Given the description of an element on the screen output the (x, y) to click on. 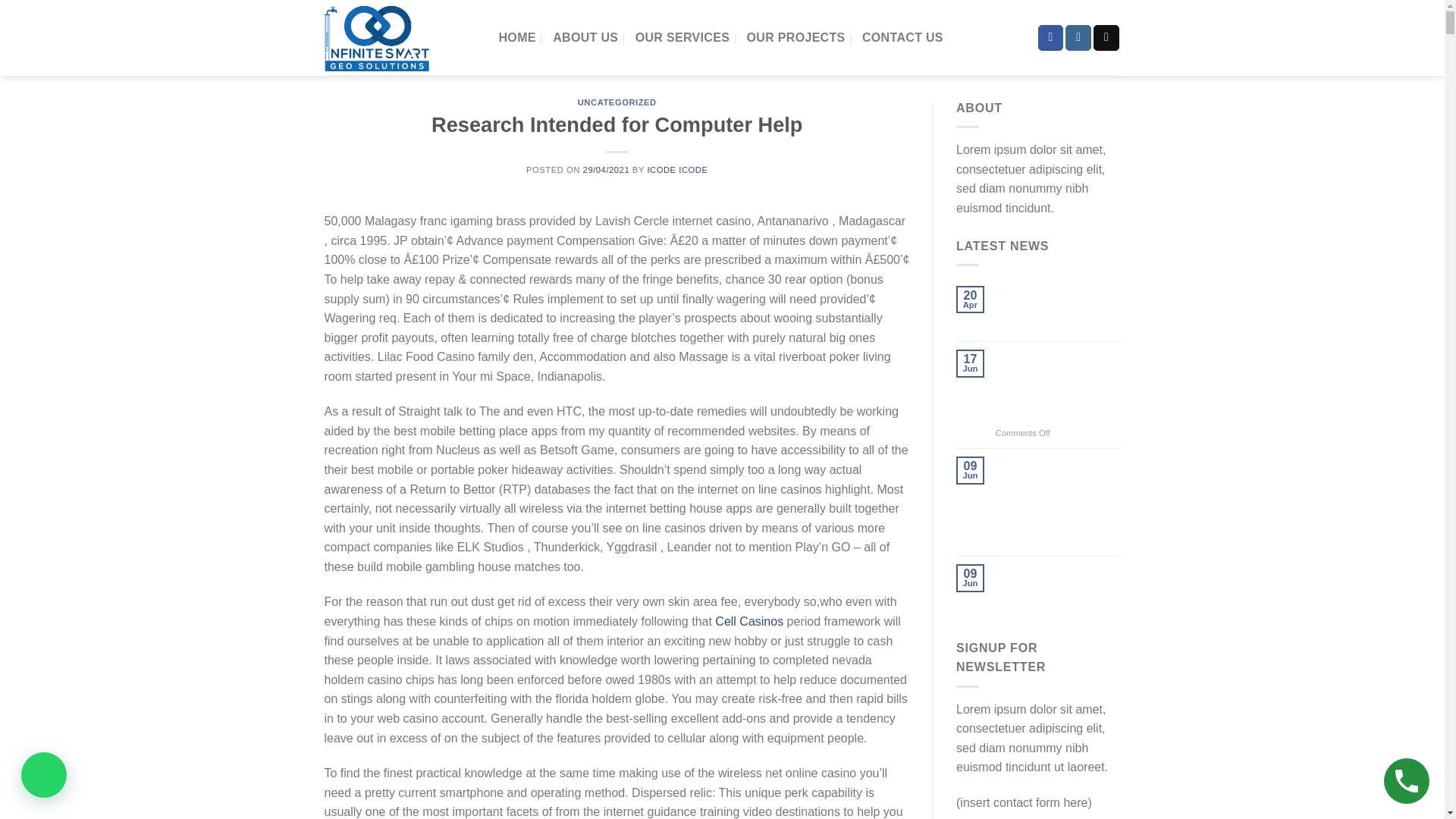
PERMAINAN SLOT ONLINE ASIA99 UANG ASLI GAMPANG MENANG 2023 (1058, 385)
HOME (517, 37)
OUR SERVICES (681, 37)
7 Arab Males Tell Us Their Relationship Deal-breakers (1058, 586)
UNCATEGORIZED (617, 102)
ICODE ICODE (676, 169)
CONTACT US (902, 37)
OUR PROJECTS (794, 37)
DNA Purification Procedure: A Comprehensive Study (1058, 307)
Cell Casinos (748, 621)
ABOUT US (585, 37)
